Given the description of an element on the screen output the (x, y) to click on. 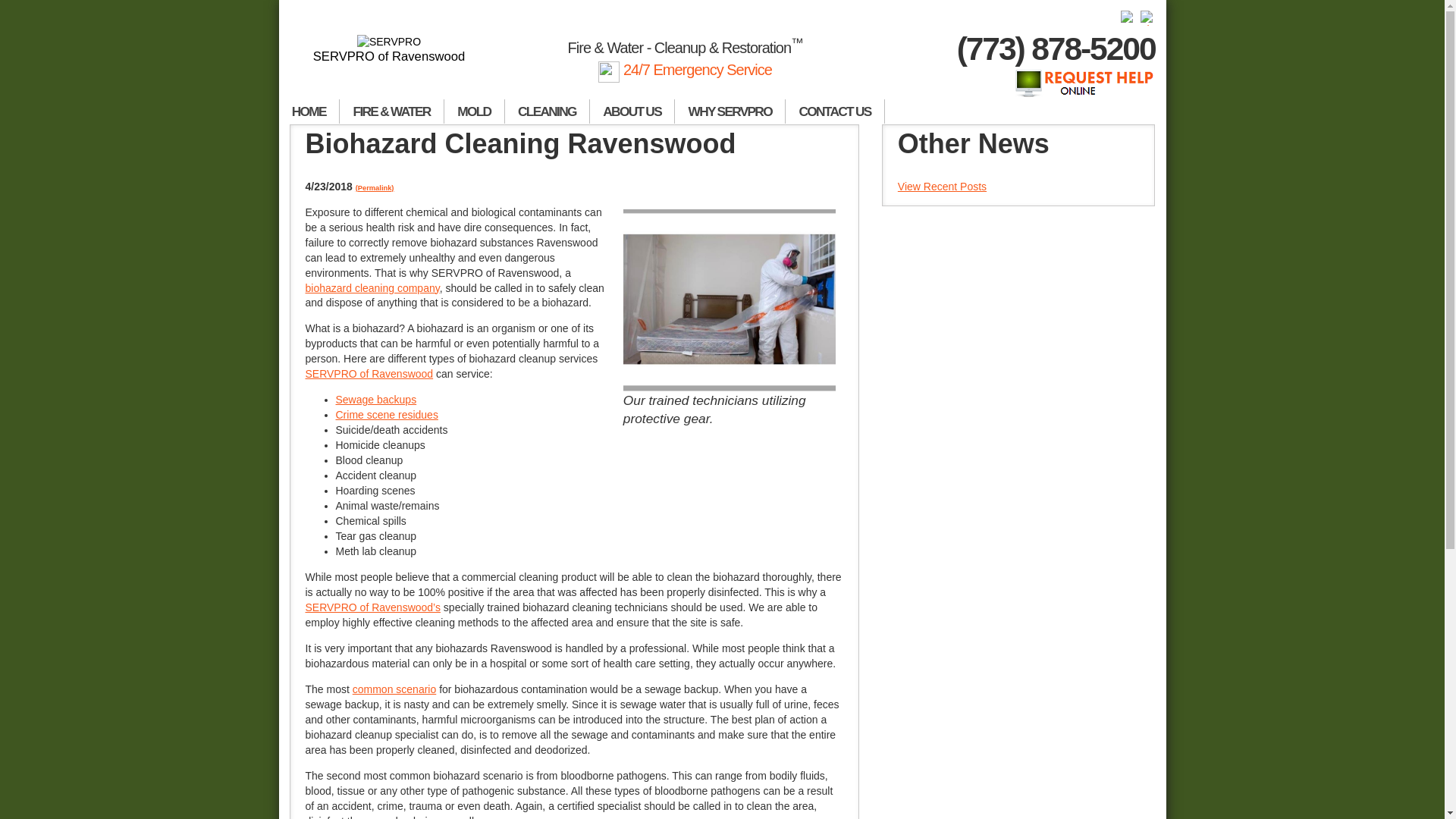
SERVPRO of Ravenswood (389, 49)
HOME (309, 111)
MOLD (474, 111)
CLEANING (547, 111)
ABOUT US (632, 111)
